Given the description of an element on the screen output the (x, y) to click on. 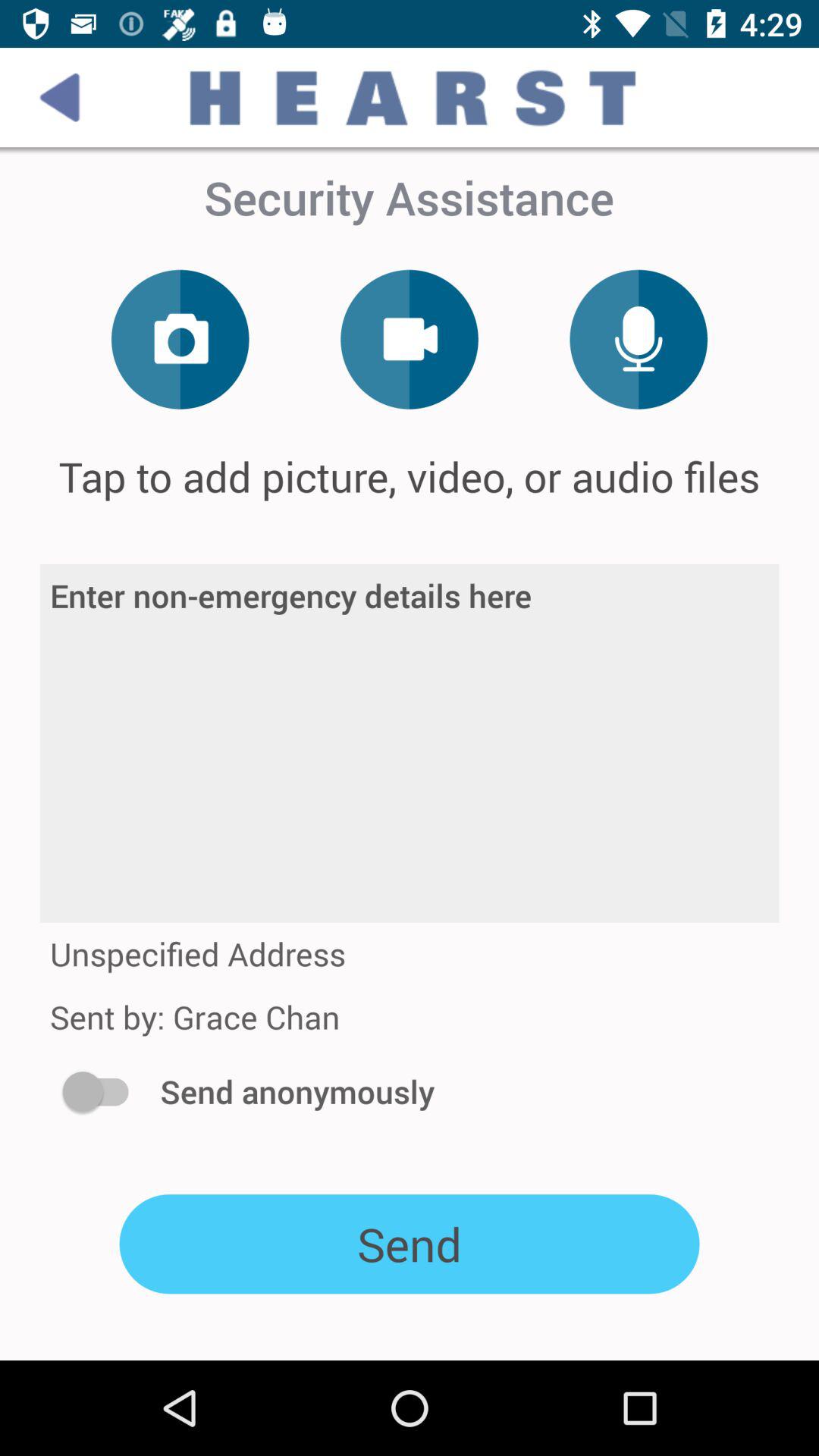
click icon above the send (102, 1091)
